Given the description of an element on the screen output the (x, y) to click on. 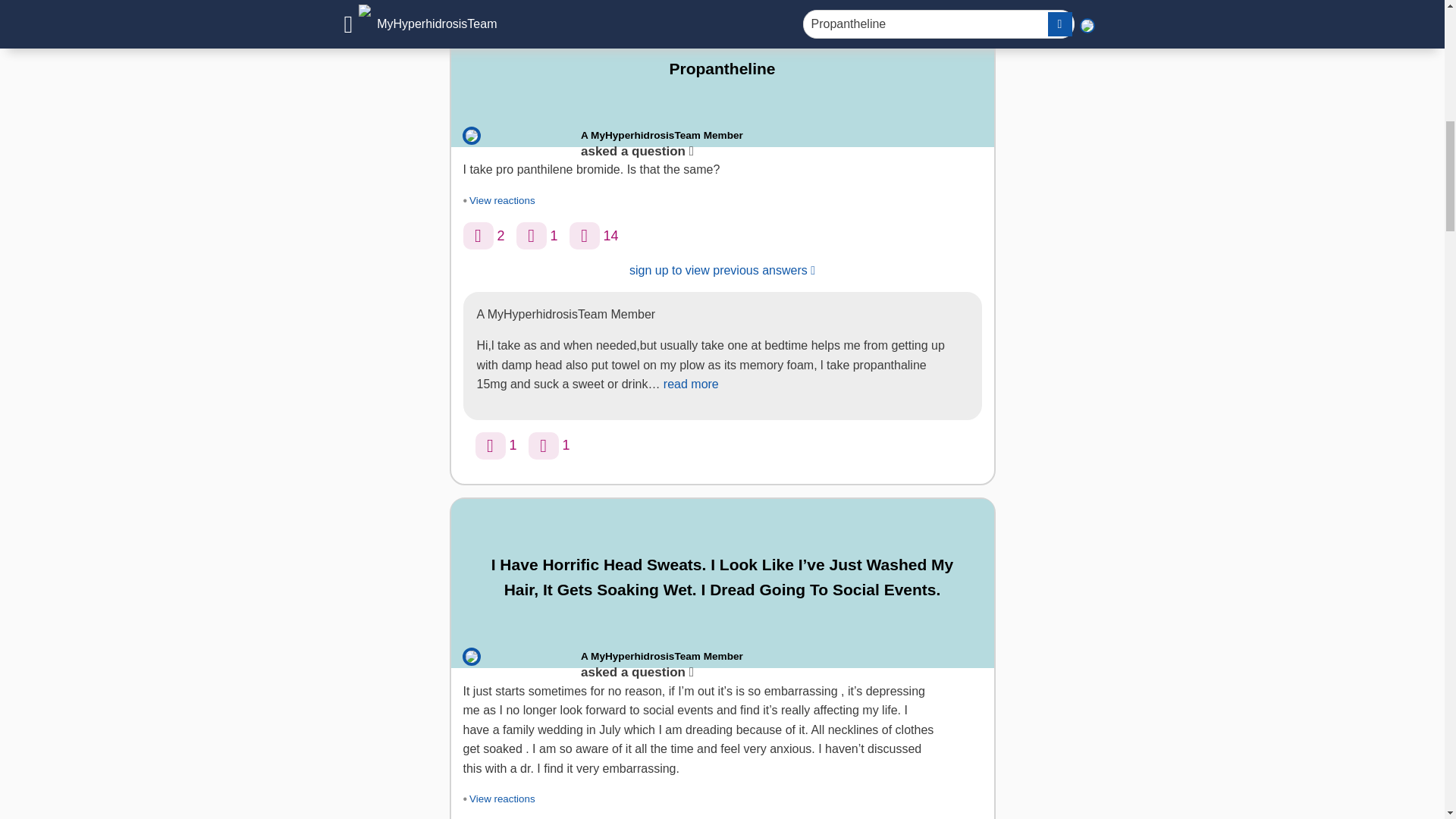
I like this (478, 235)
Send a hug (543, 445)
I like this (489, 445)
Add a comment (584, 235)
Send a hug (531, 235)
